Given the description of an element on the screen output the (x, y) to click on. 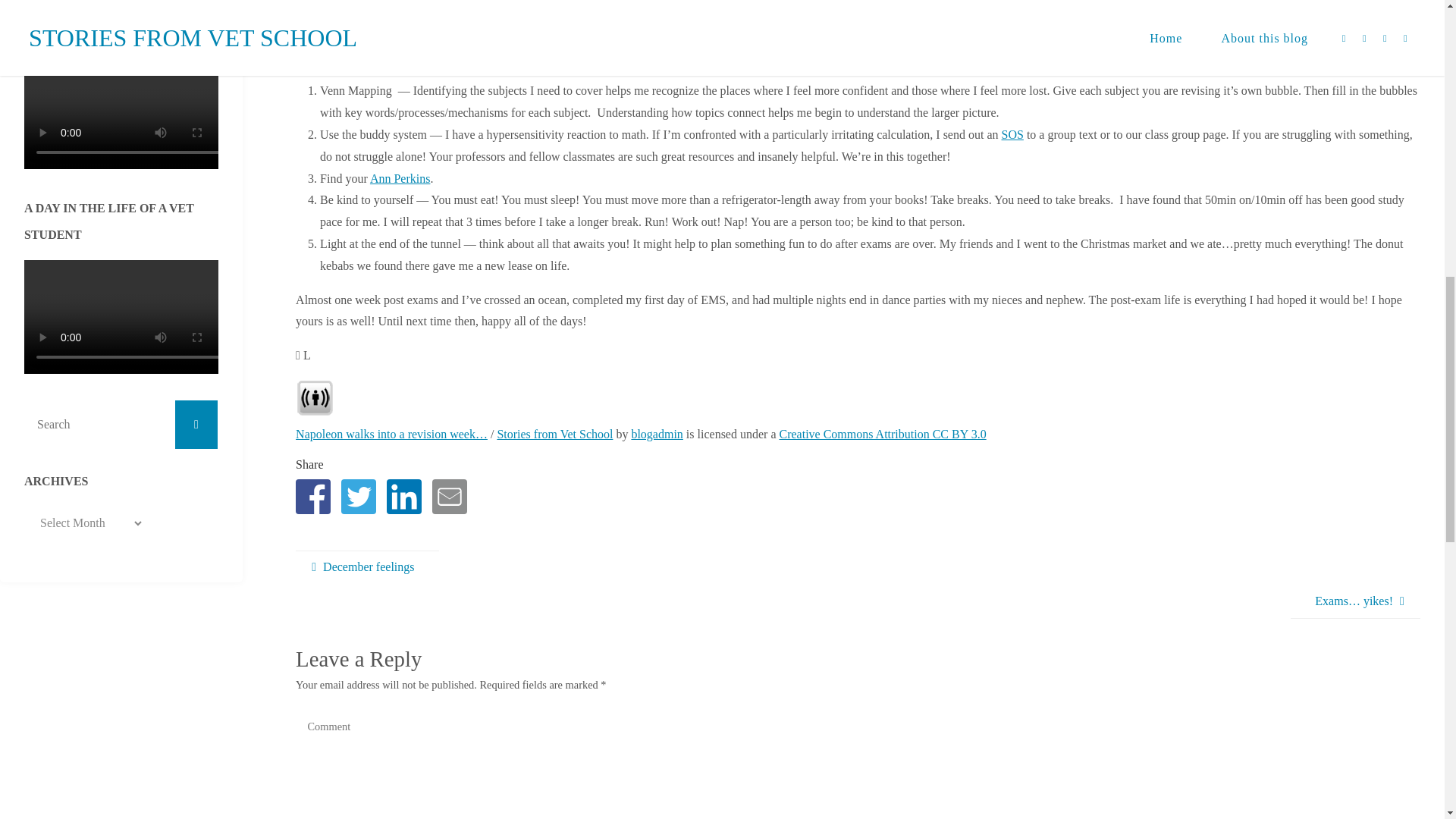
Waterloo (521, 3)
blogadmin (656, 433)
December feelings (366, 567)
SOS (1012, 133)
Creative Commons Attribution CC BY 3.0 (881, 433)
Stories from Vet School (554, 433)
Ann Perkins (399, 178)
